Given the description of an element on the screen output the (x, y) to click on. 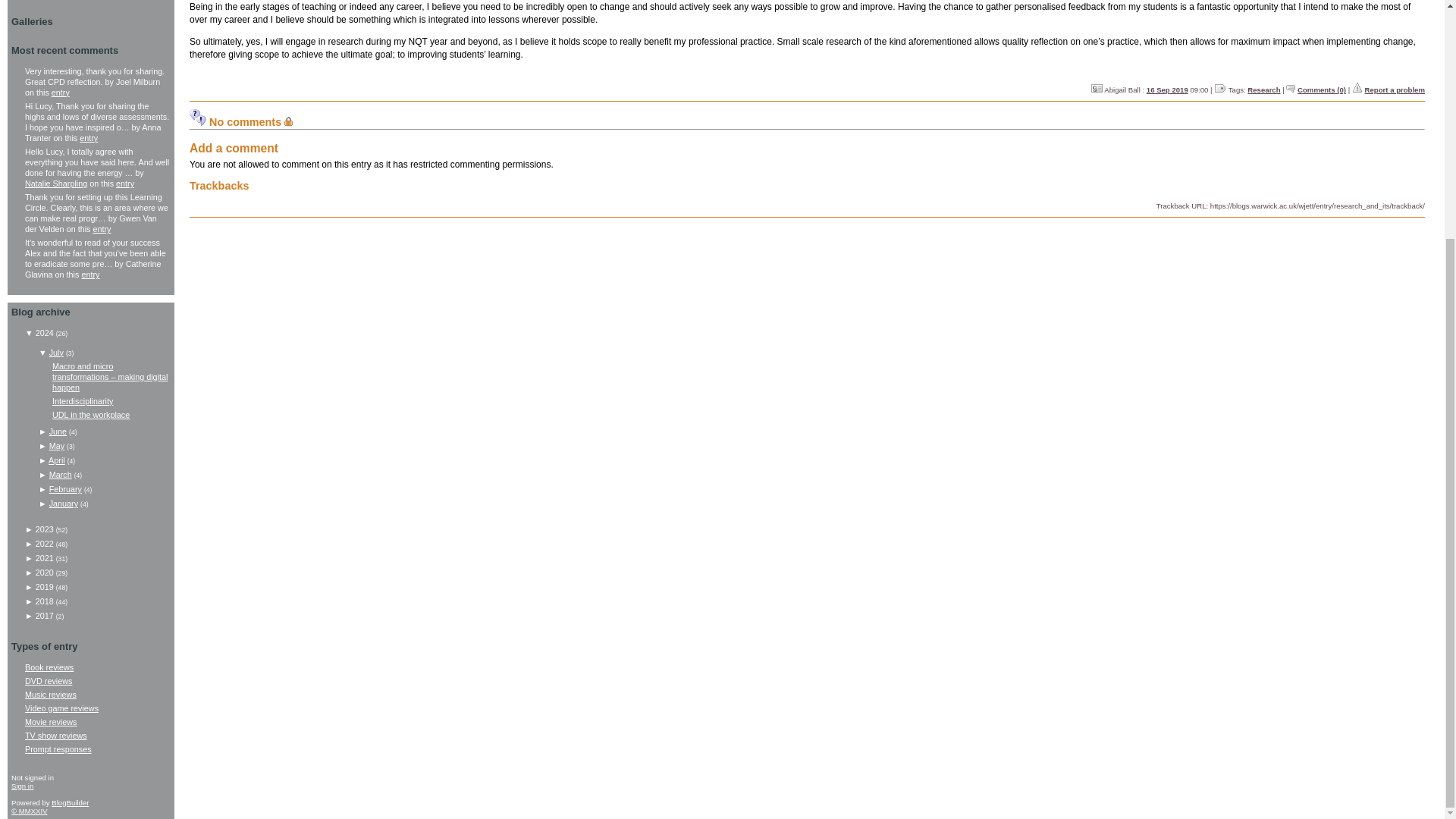
UDL in the workplace (90, 414)
entry (88, 137)
Research (1263, 89)
Staff: Centre for Teacher Education (1096, 88)
entry (59, 92)
July (56, 352)
Natalie Sharpling (55, 183)
Read or add comments (1321, 89)
Report a problem (1395, 89)
entry (101, 228)
Interdisciplinarity (82, 400)
16 Sep 2019 (1167, 89)
entry (124, 183)
Only commentable by: Author (287, 121)
